Given the description of an element on the screen output the (x, y) to click on. 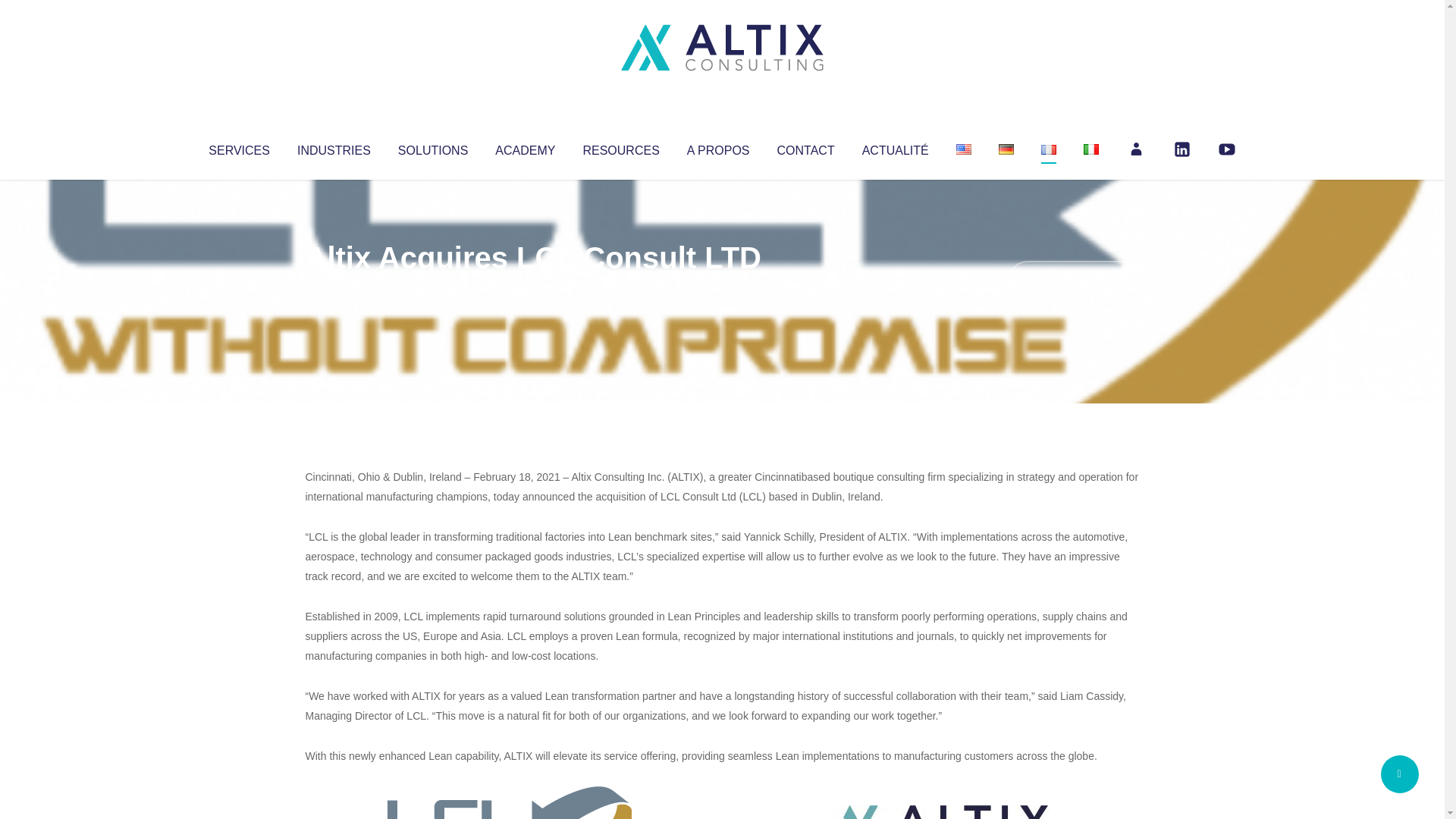
No Comments (1073, 278)
A PROPOS (718, 146)
SOLUTIONS (432, 146)
Uncategorized (530, 287)
ACADEMY (524, 146)
INDUSTRIES (334, 146)
SERVICES (238, 146)
Articles par Altix (333, 287)
Altix (333, 287)
RESOURCES (620, 146)
